Given the description of an element on the screen output the (x, y) to click on. 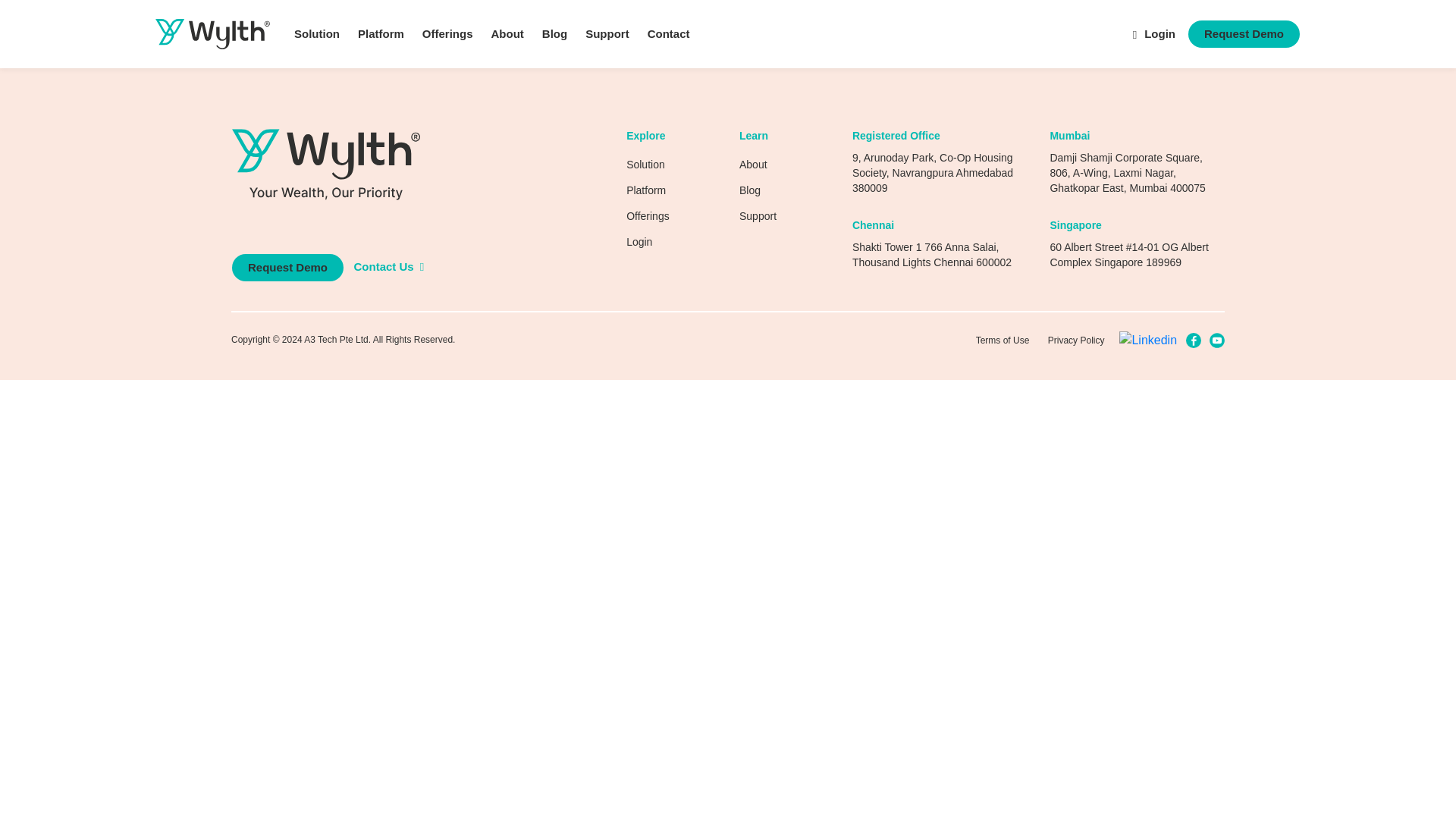
Linkedin (1147, 339)
About (753, 164)
About (506, 33)
Login (639, 241)
Solution (645, 164)
Contact Us (388, 266)
Solution (317, 33)
Offerings (447, 33)
Privacy Policy (1076, 339)
Blog (554, 33)
Facebook (1193, 339)
Terms of Use (1002, 339)
Login (1153, 33)
Privacy Policy (1076, 339)
Platform (645, 190)
